Given the description of an element on the screen output the (x, y) to click on. 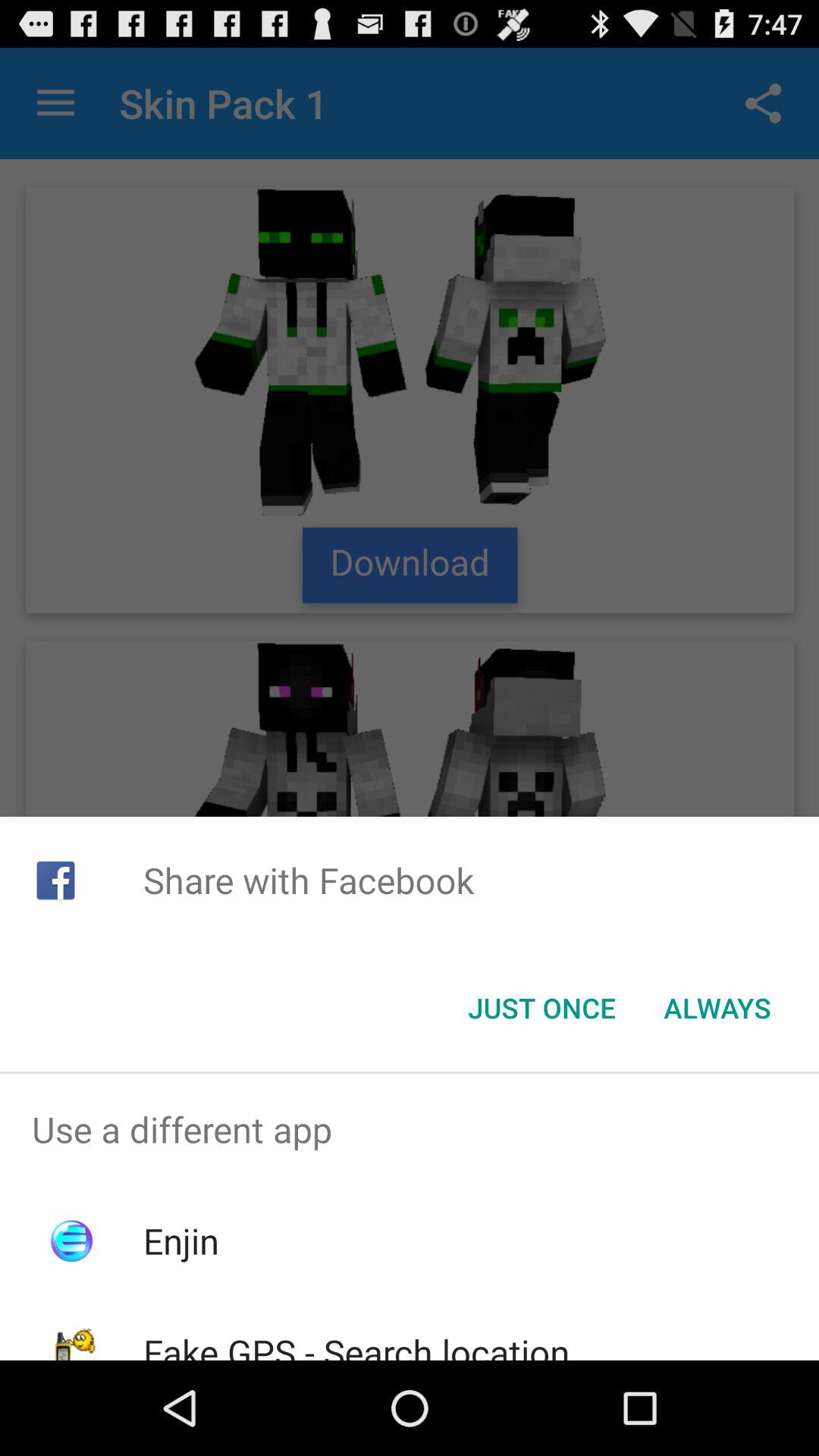
tap item above enjin icon (409, 1129)
